Given the description of an element on the screen output the (x, y) to click on. 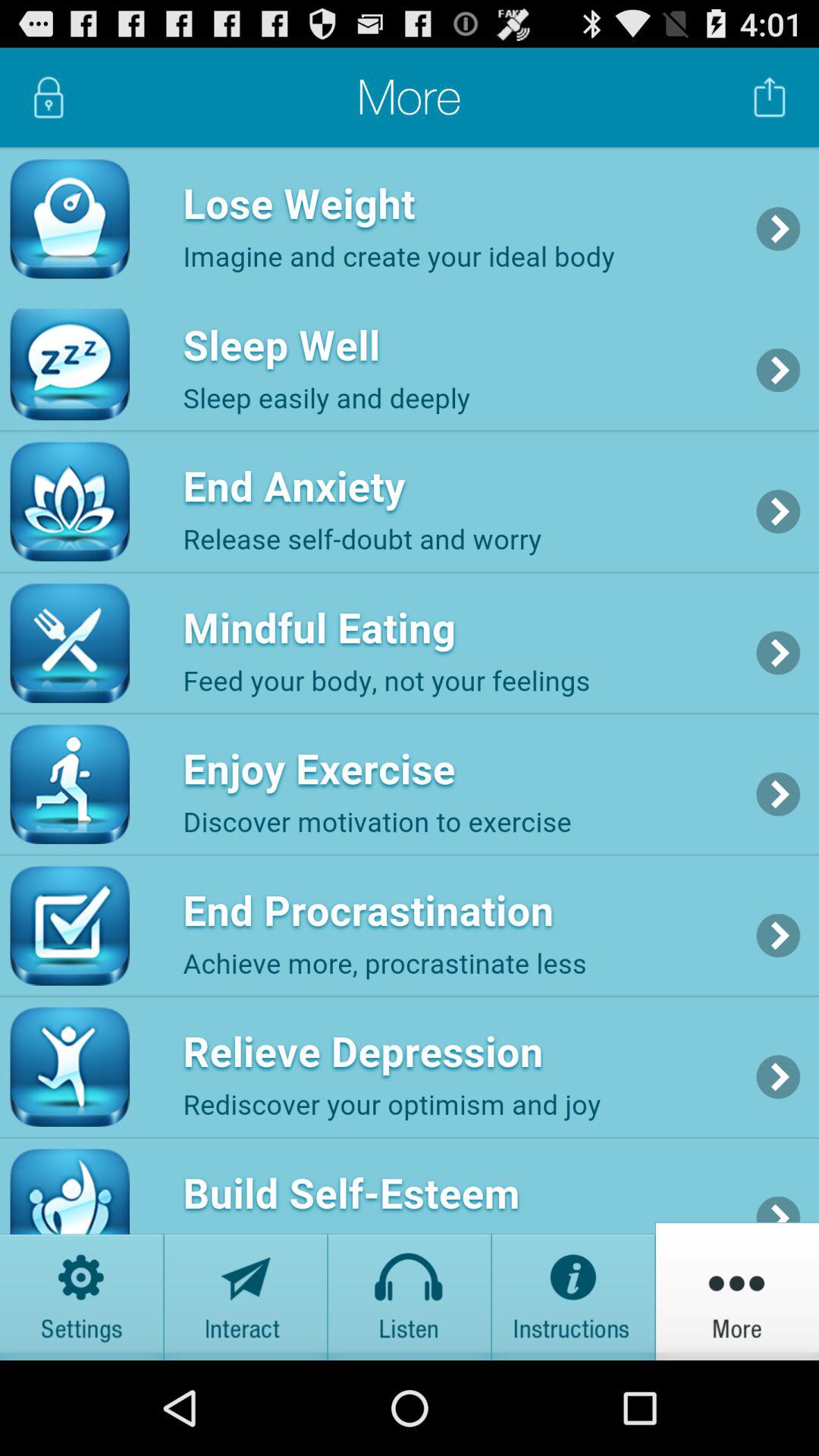
go to listen tab (409, 1290)
